Given the description of an element on the screen output the (x, y) to click on. 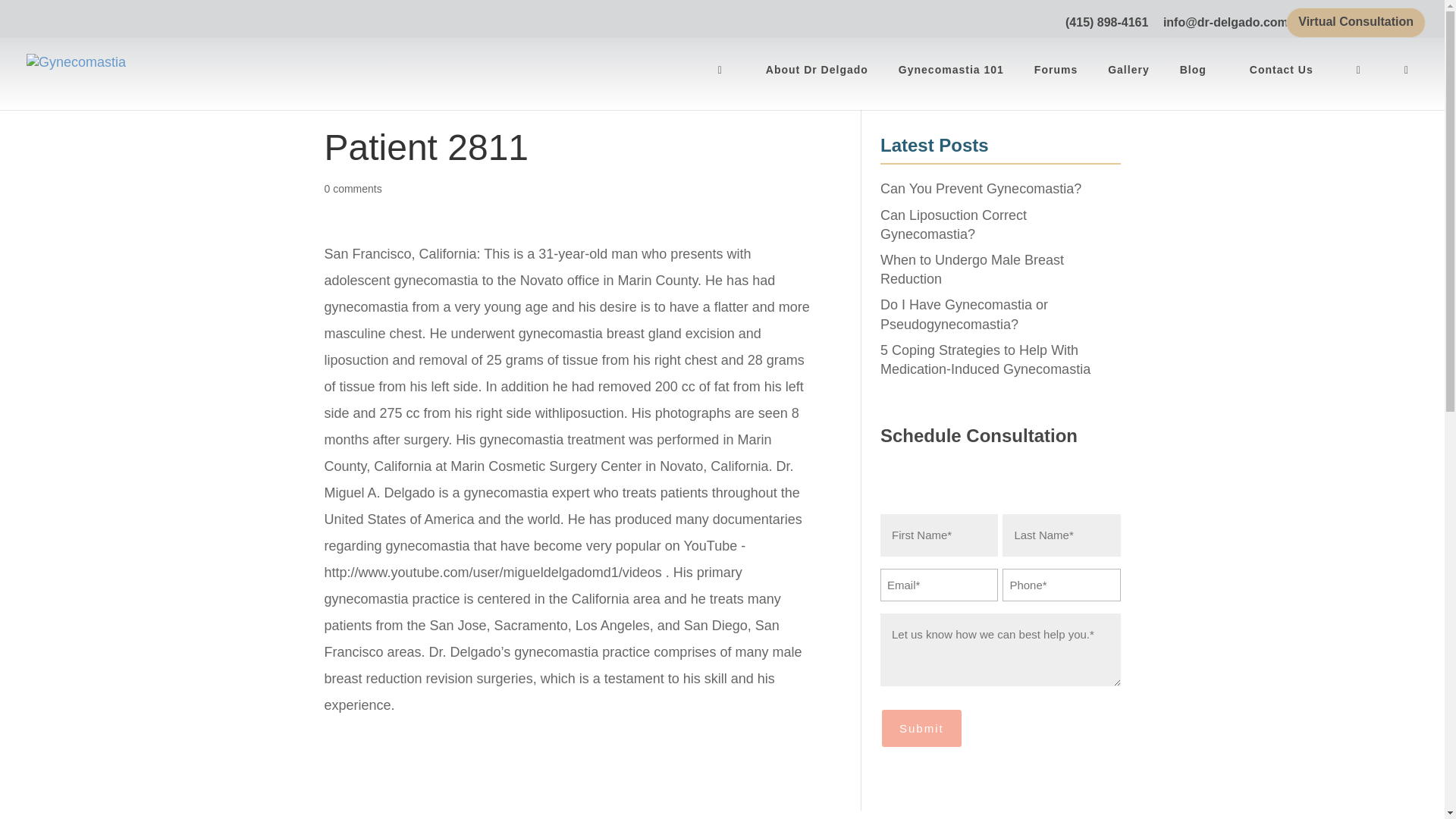
Submit (921, 728)
Gynecomastia 101 (952, 82)
Forums (1058, 82)
Virtual Consultation (1355, 25)
About Dr Delgado (818, 82)
